Given the description of an element on the screen output the (x, y) to click on. 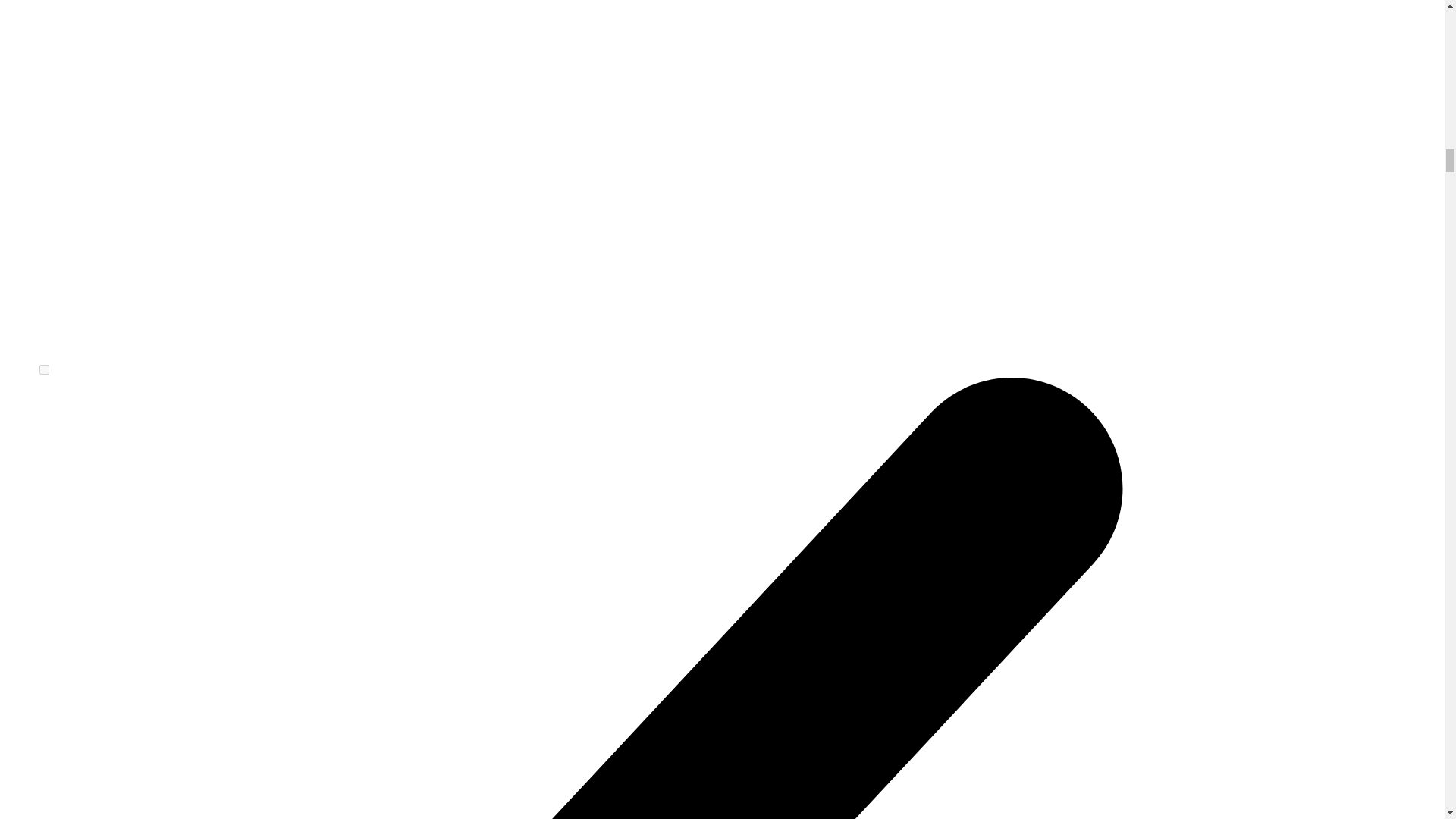
on (44, 369)
